Given the description of an element on the screen output the (x, y) to click on. 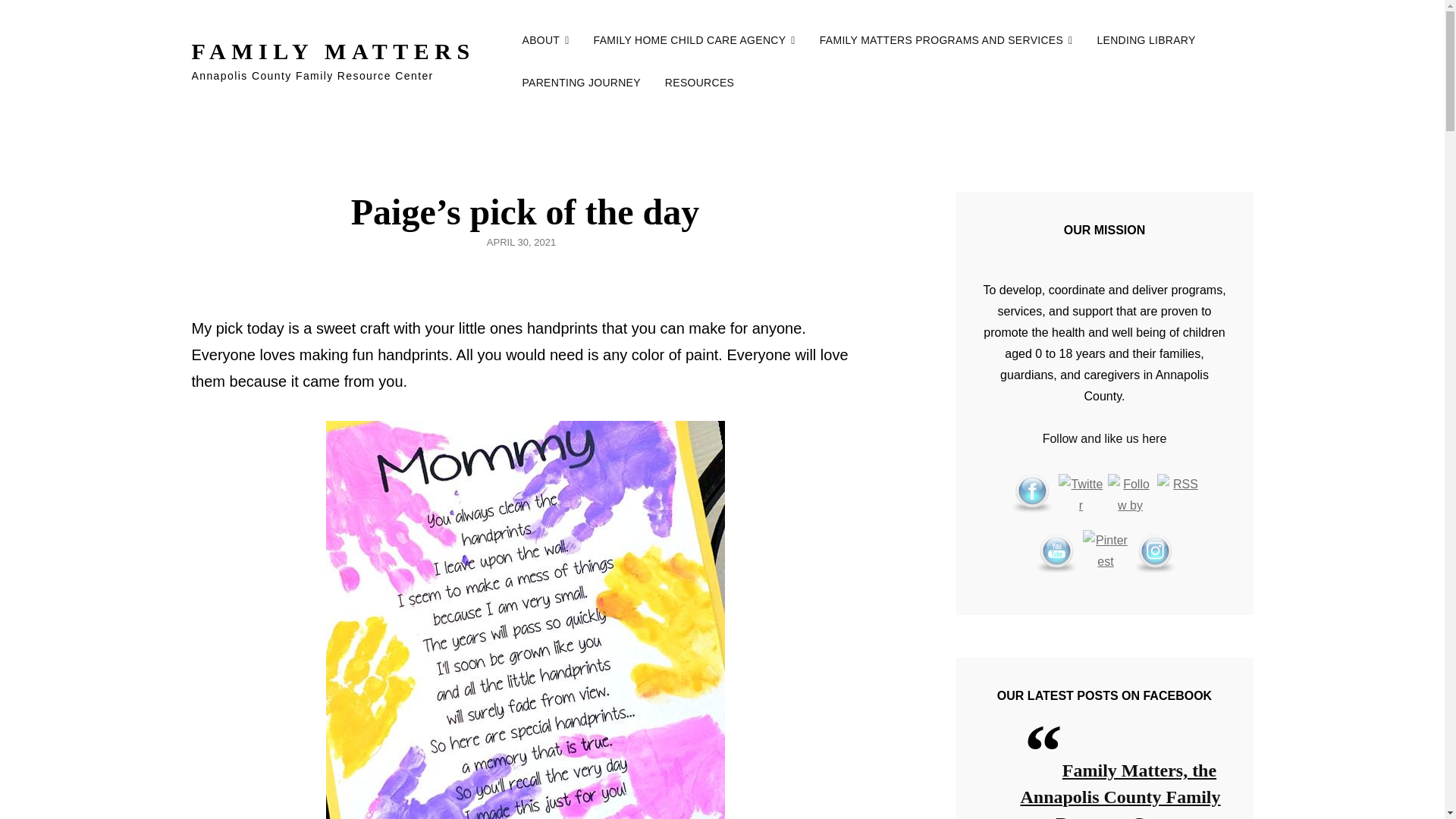
Instragram (1154, 552)
YouTube (1055, 552)
Pinterest (1105, 552)
ABOUT (544, 39)
RSS (1179, 496)
FAMILY MATTERS (332, 50)
FAMILY MATTERS PROGRAMS AND SERVICES (946, 39)
FAMILY HOME CHILD CARE AGENCY (694, 39)
Twitter (1080, 496)
Follow by Email (1129, 496)
Facebook (1031, 493)
